Given the description of an element on the screen output the (x, y) to click on. 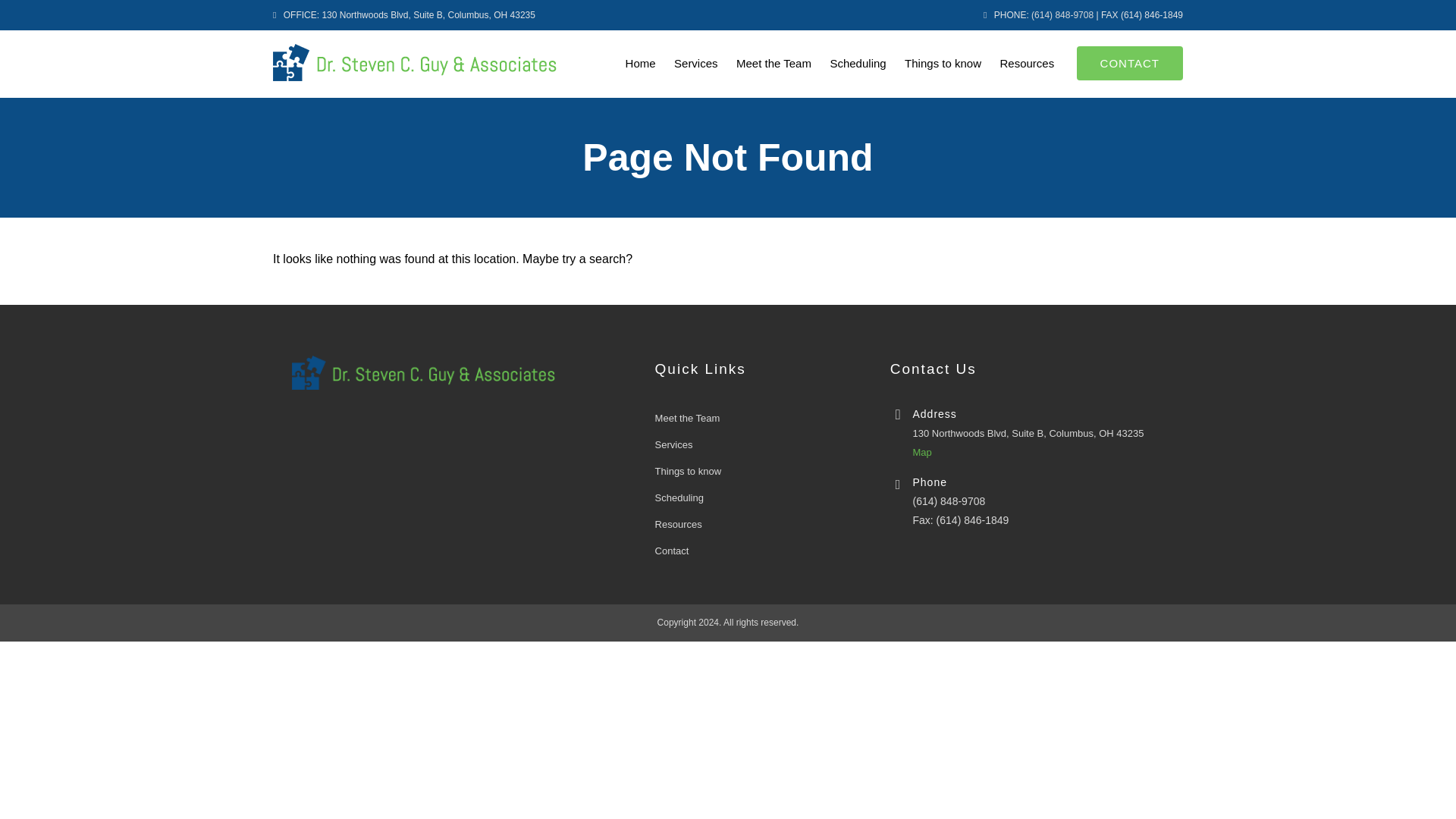
Contact (671, 550)
CONTACT (1129, 62)
Scheduling (679, 497)
Meet the Team (773, 63)
Resources (678, 523)
Scheduling (857, 63)
Services (695, 63)
Scheduling (857, 63)
Services (695, 63)
Services (674, 444)
